Given the description of an element on the screen output the (x, y) to click on. 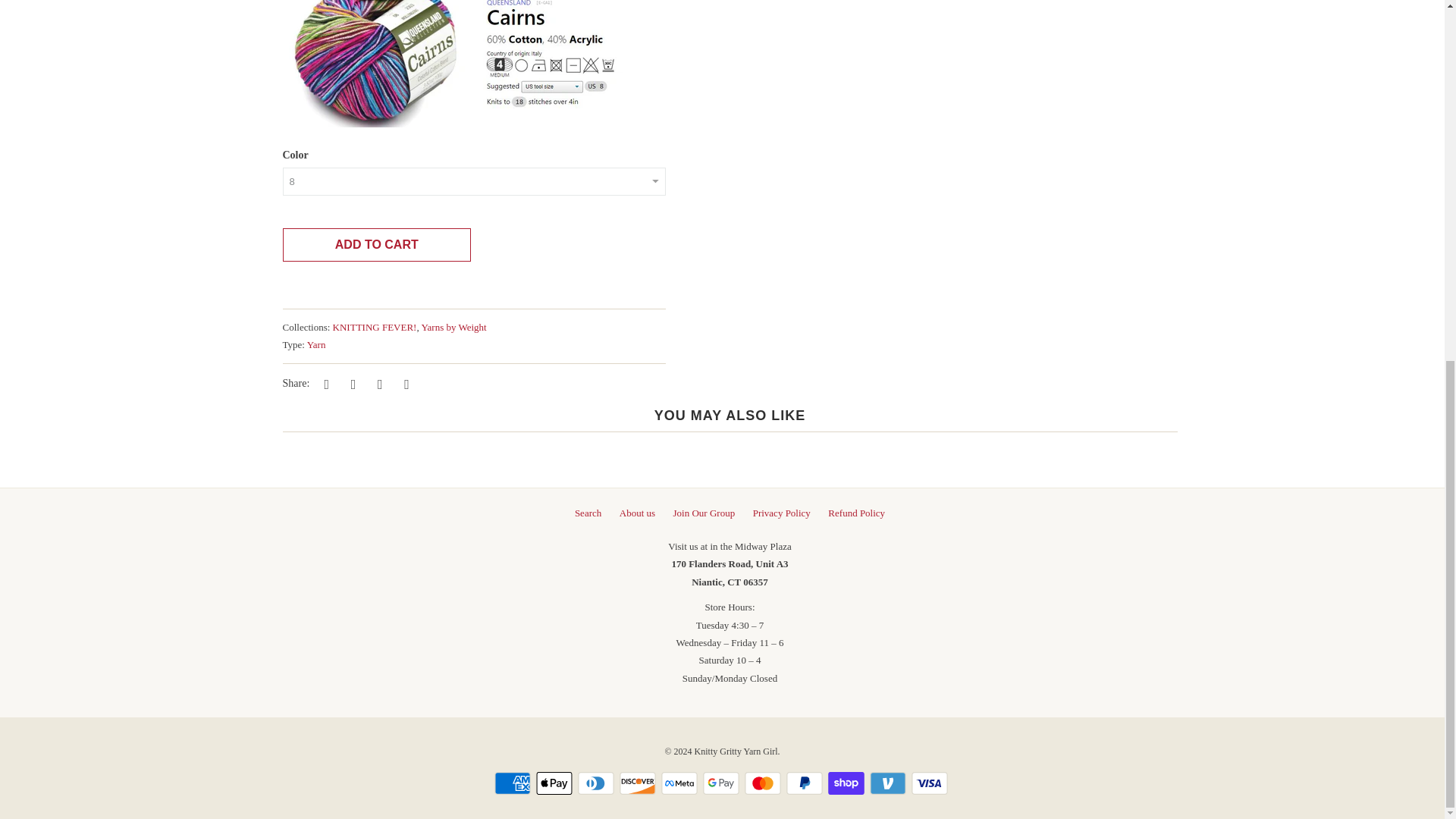
Visa (930, 783)
Diners Club (597, 783)
Meta Pay (680, 783)
Apple Pay (555, 783)
Shop Pay (847, 783)
American Express (514, 783)
Discover (638, 783)
Mastercard (764, 783)
Google Pay (721, 783)
Venmo (888, 783)
PayPal (805, 783)
